Given the description of an element on the screen output the (x, y) to click on. 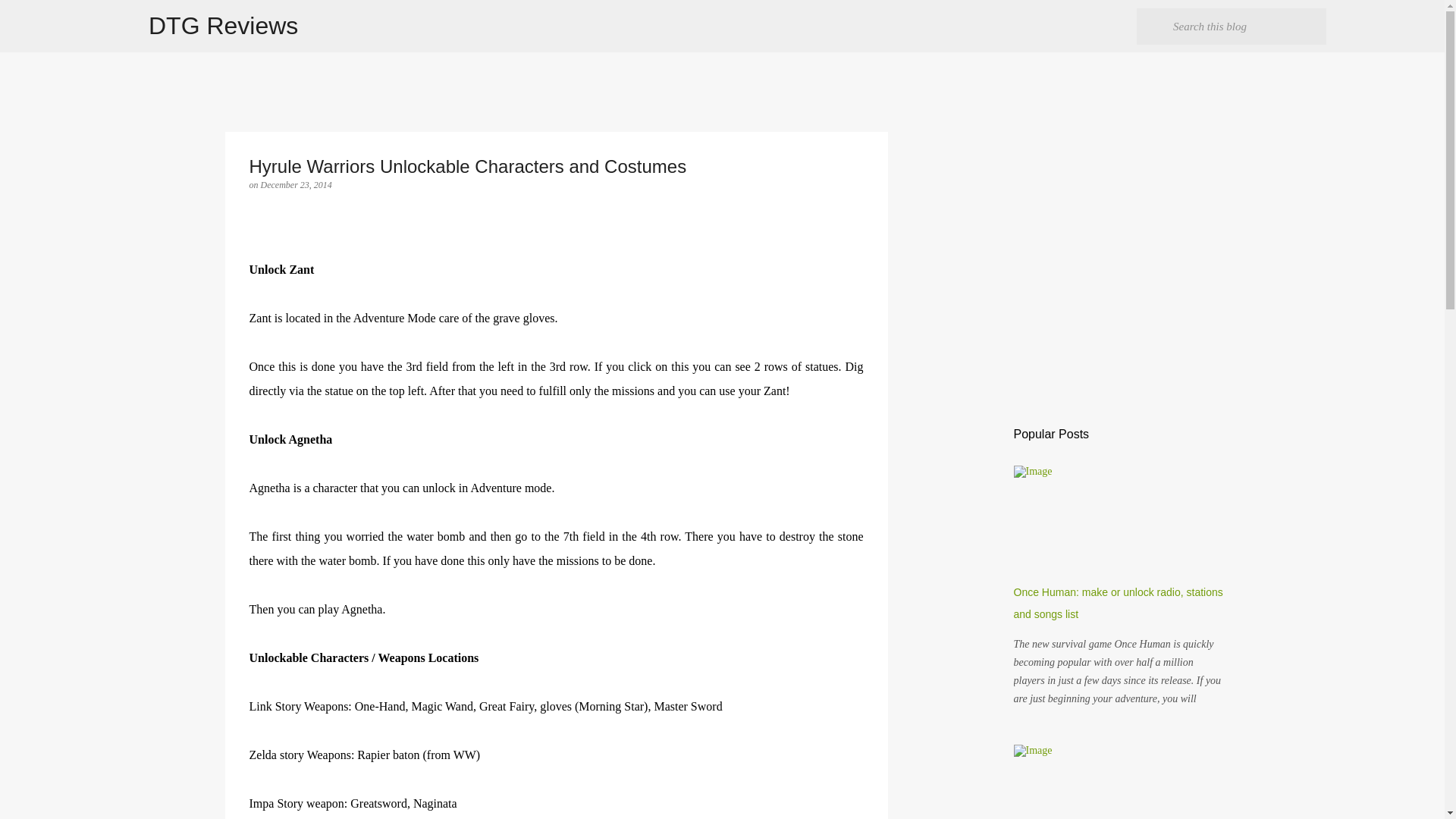
DTG Reviews (223, 25)
Once Human: make or unlock radio, stations and songs list (1118, 602)
December 23, 2014 (295, 184)
permanent link (295, 184)
